Given the description of an element on the screen output the (x, y) to click on. 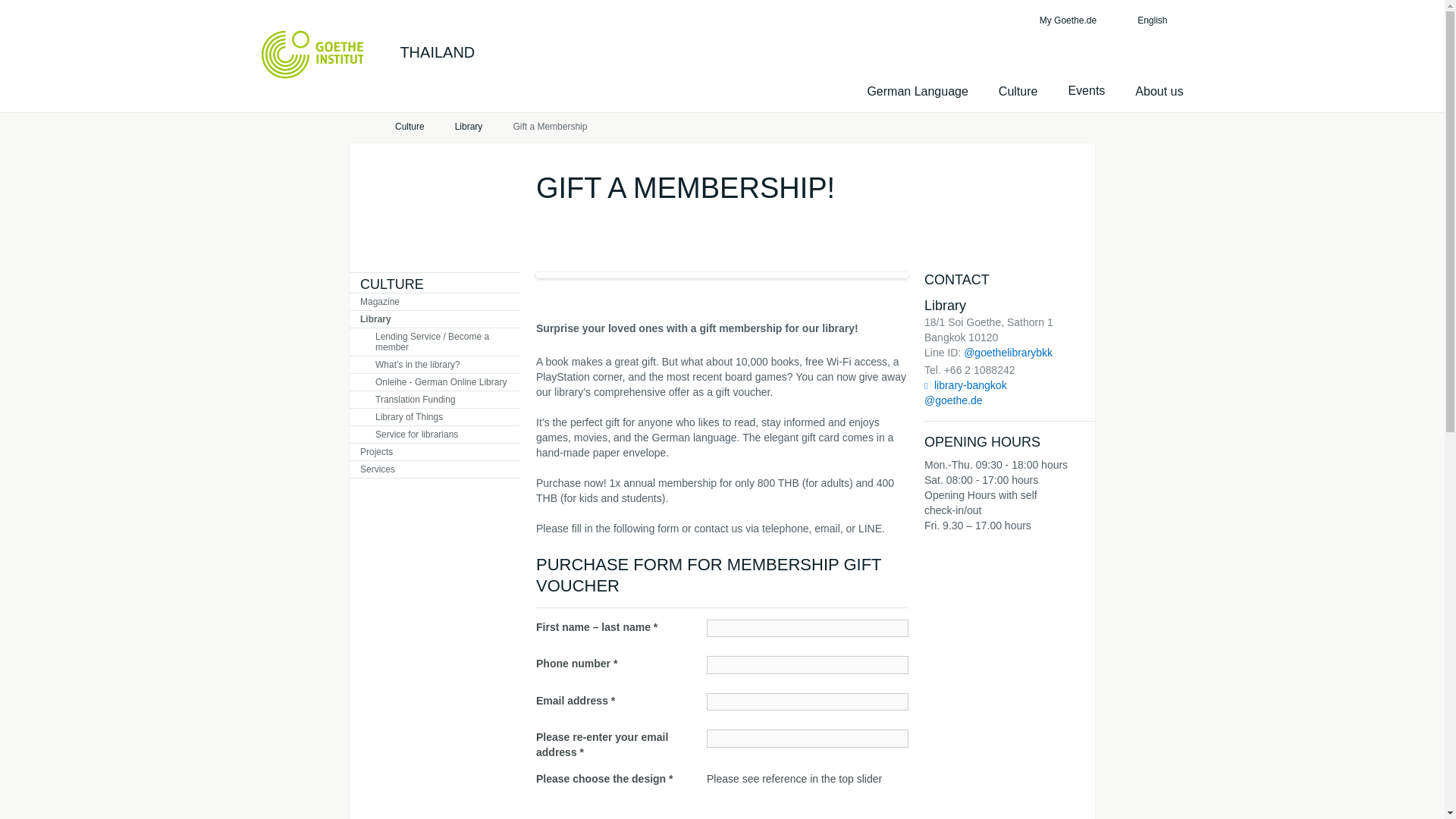
Events (1086, 90)
My Goethe.de (1064, 20)
Claim Goethe Institut (311, 54)
Gift a Membership (549, 127)
English (1159, 20)
Library (468, 127)
Culture (409, 127)
Translation Funding (434, 399)
What's in the library? (434, 364)
CULTURE (391, 283)
